Given the description of an element on the screen output the (x, y) to click on. 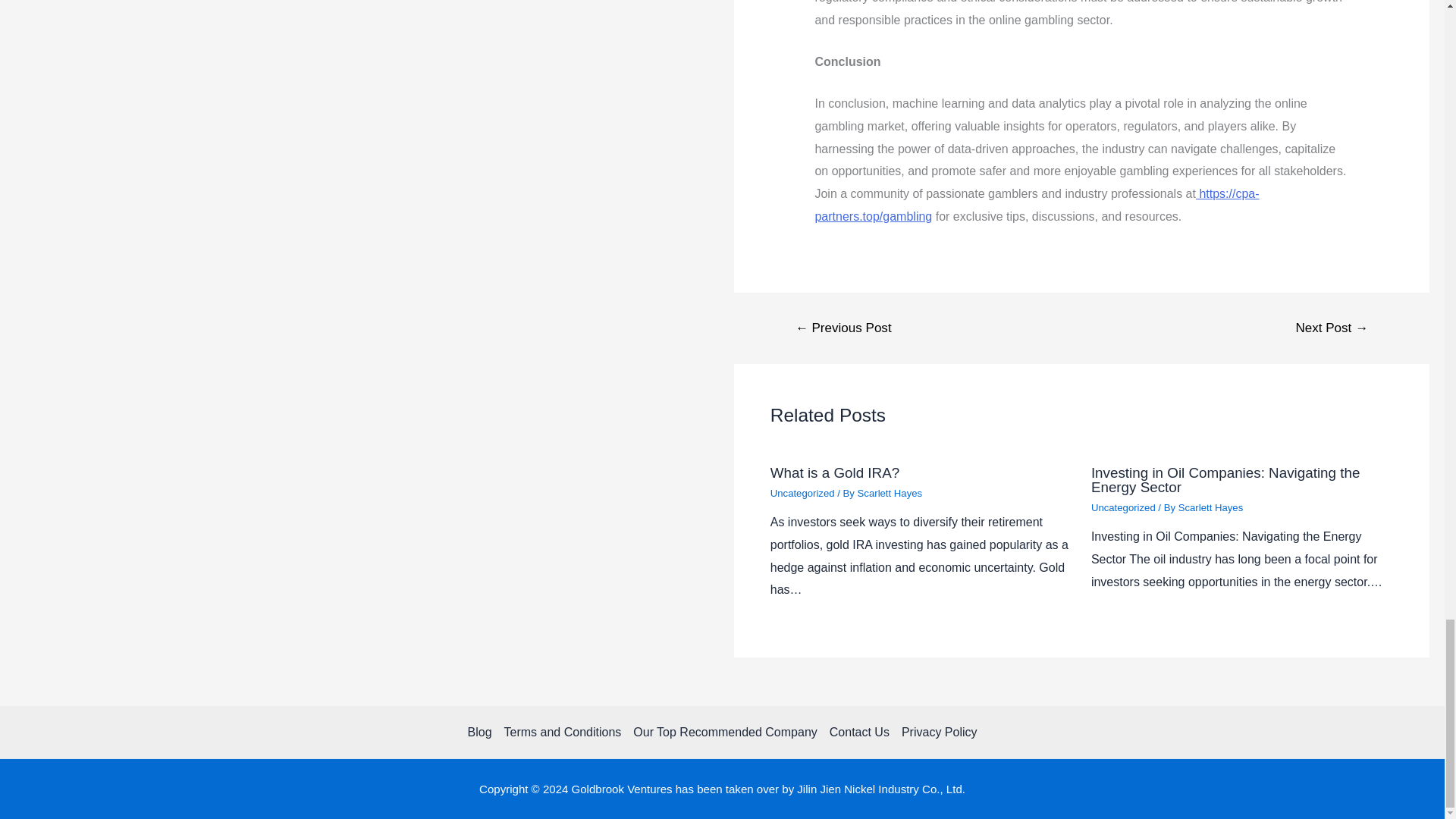
View all posts by Scarlett Hayes (1210, 507)
View all posts by Scarlett Hayes (890, 492)
